Given the description of an element on the screen output the (x, y) to click on. 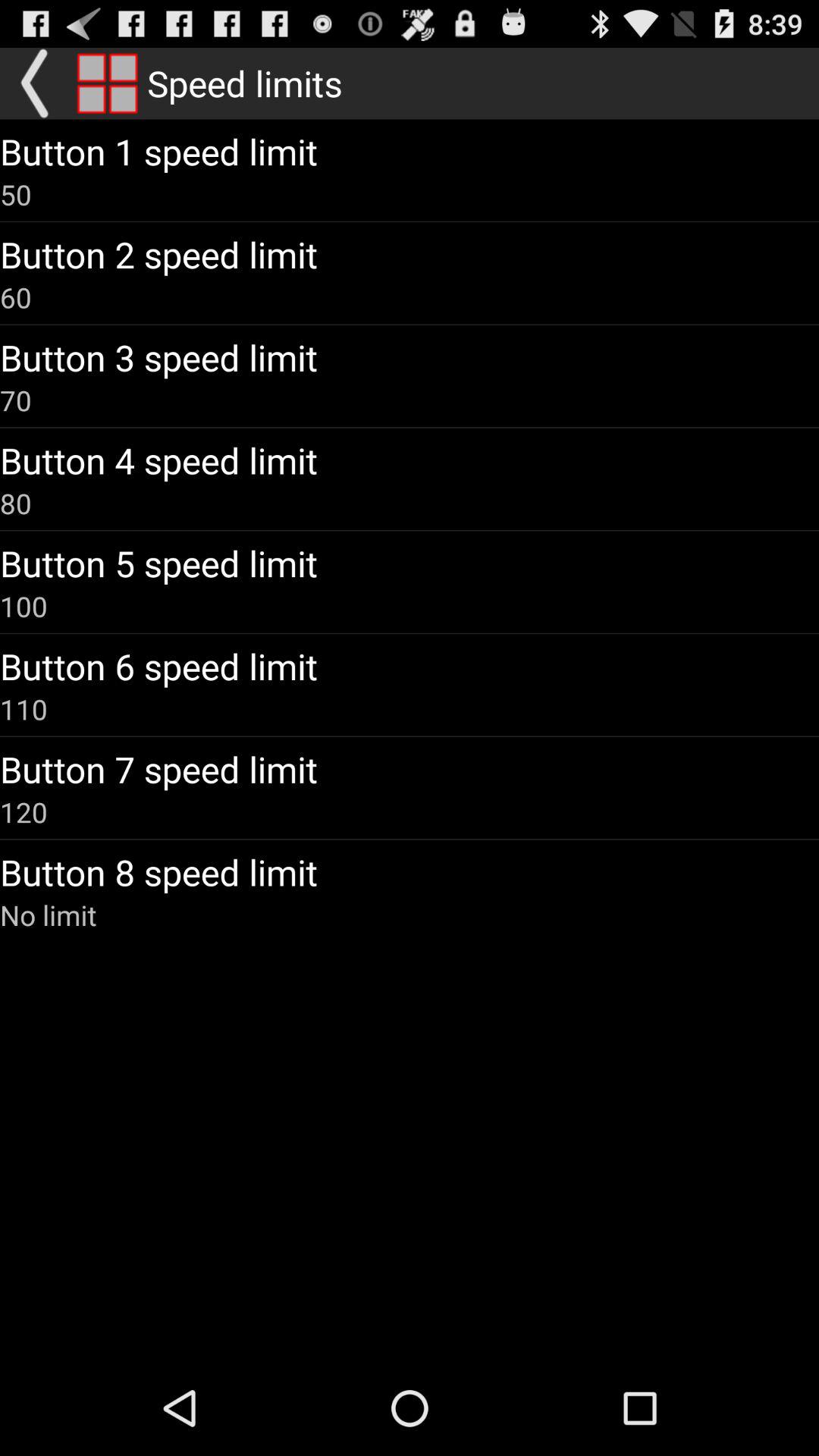
swipe until the 60 item (15, 297)
